Given the description of an element on the screen output the (x, y) to click on. 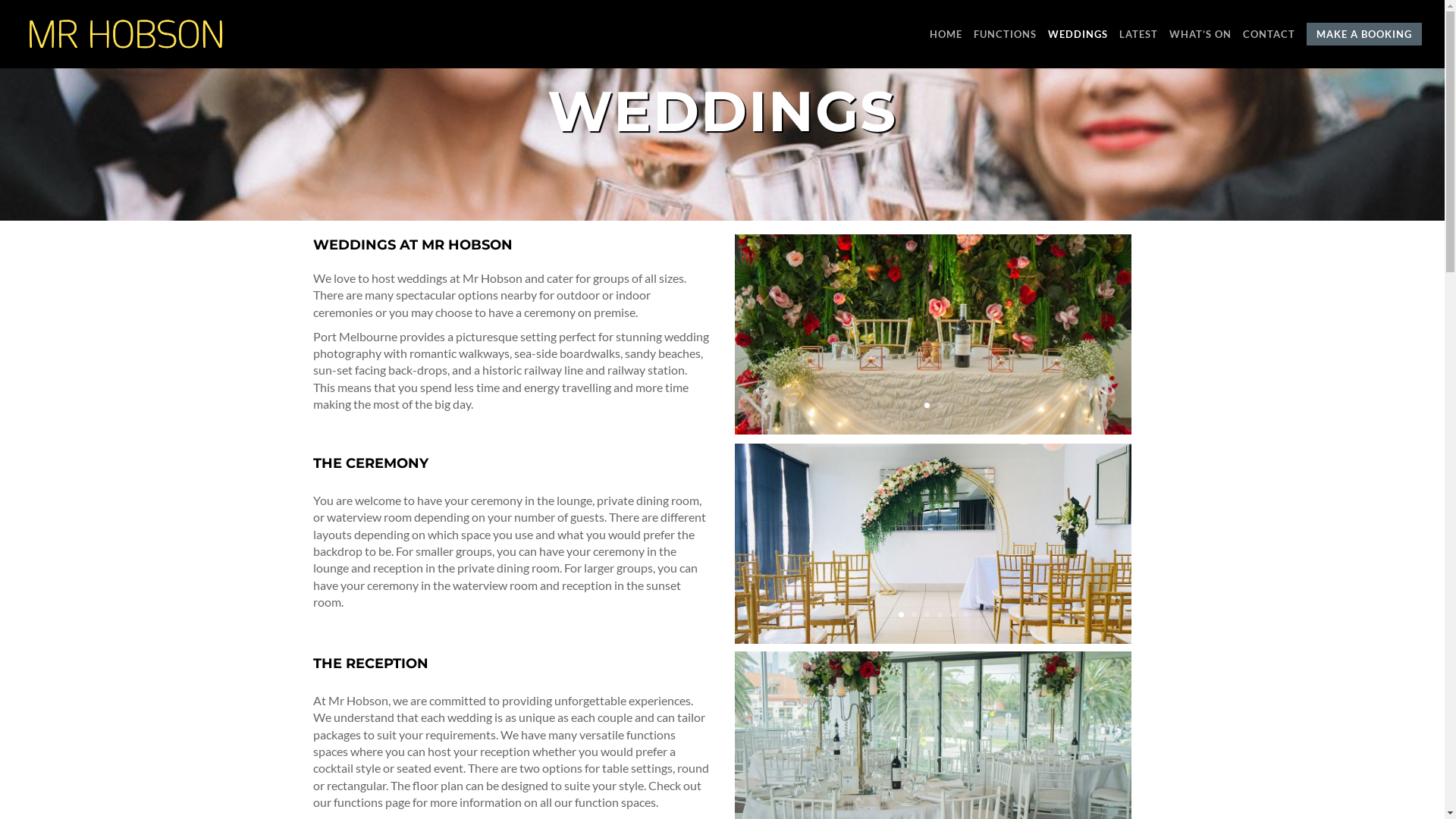
6 Element type: text (965, 614)
MAKE A BOOKING Element type: text (1363, 45)
5 Element type: text (952, 614)
1 Element type: text (900, 614)
CONTACT Element type: text (1268, 45)
HOME Element type: text (945, 45)
1 Element type: text (926, 404)
2 Element type: text (913, 614)
LATEST Element type: text (1138, 45)
3 Element type: text (926, 614)
FUNCTIONS Element type: text (1004, 45)
4 Element type: text (939, 614)
2 Element type: text (939, 404)
WEDDINGS Element type: text (1077, 45)
